Given the description of an element on the screen output the (x, y) to click on. 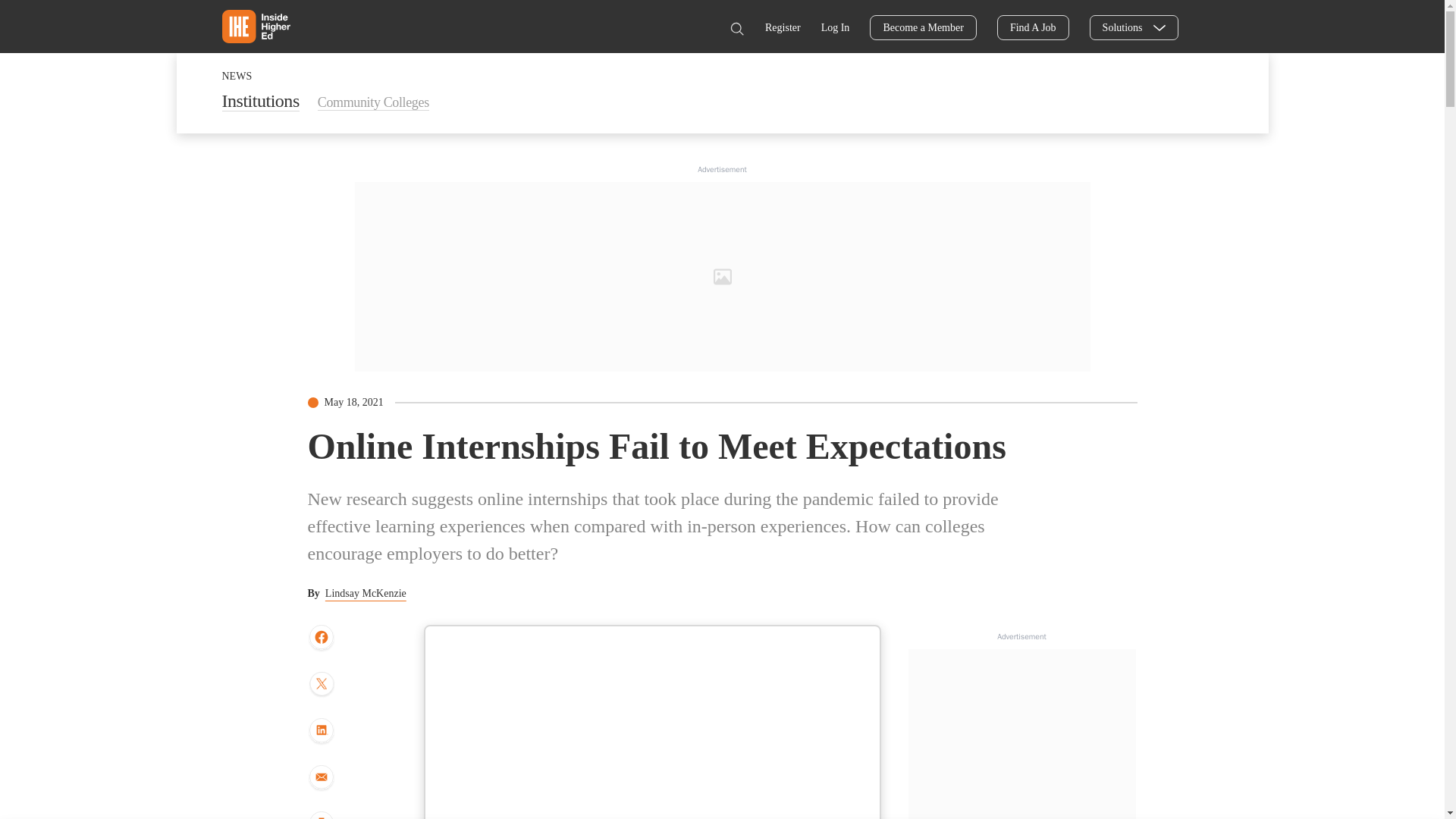
share to Linkedin (320, 731)
share to twitter (320, 685)
share to facebook (320, 637)
Become a Member (922, 27)
share by email (320, 777)
Search (736, 28)
Home (255, 26)
Find A Job (1032, 27)
